Given the description of an element on the screen output the (x, y) to click on. 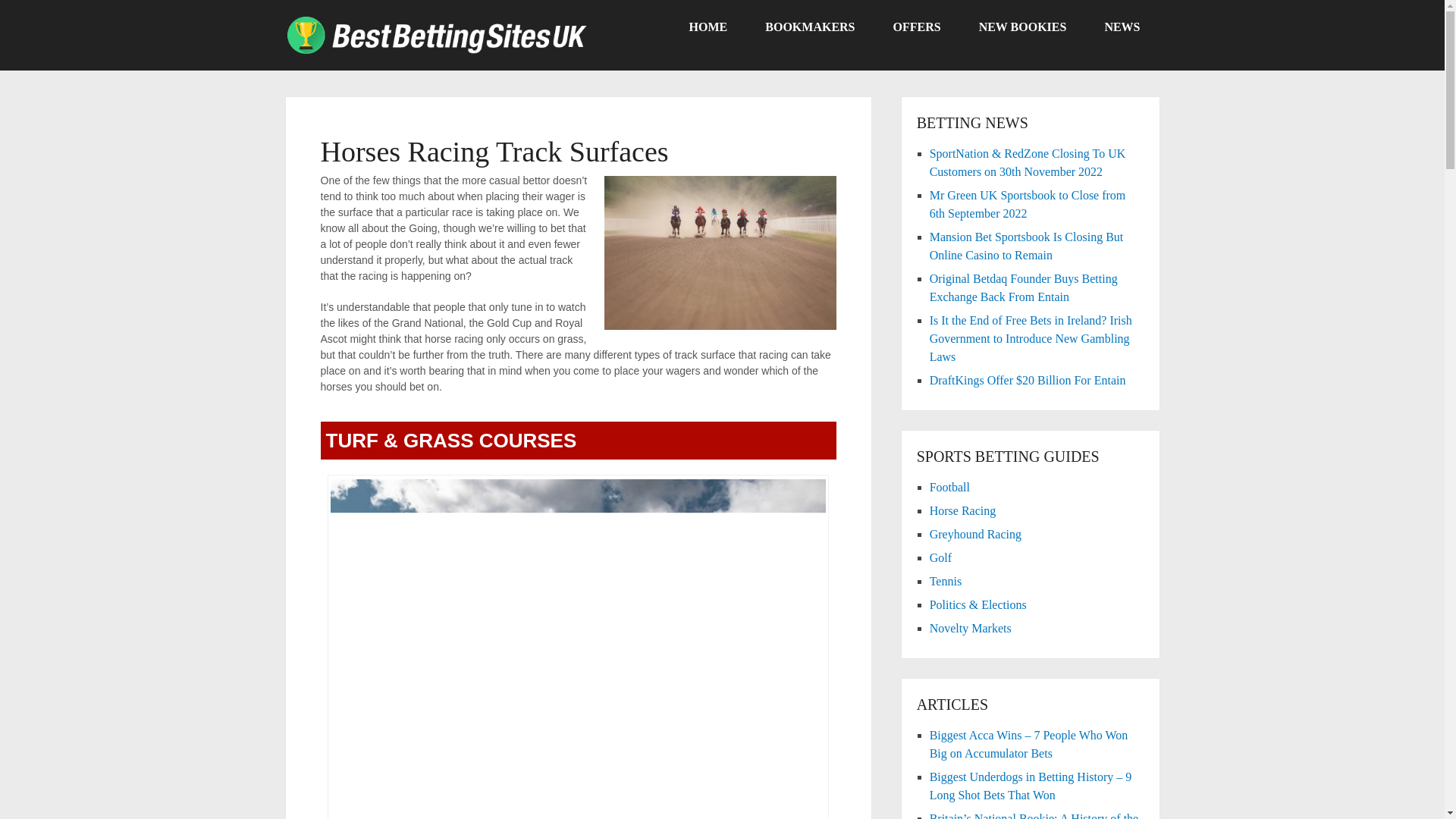
Football (949, 486)
NEW BOOKIES (1022, 27)
Greyhound Racing (976, 533)
Horse Racing (962, 510)
OFFERS (916, 27)
Tennis (945, 581)
HOME (707, 27)
NEWS (1121, 27)
BOOKMAKERS (809, 27)
